Given the description of an element on the screen output the (x, y) to click on. 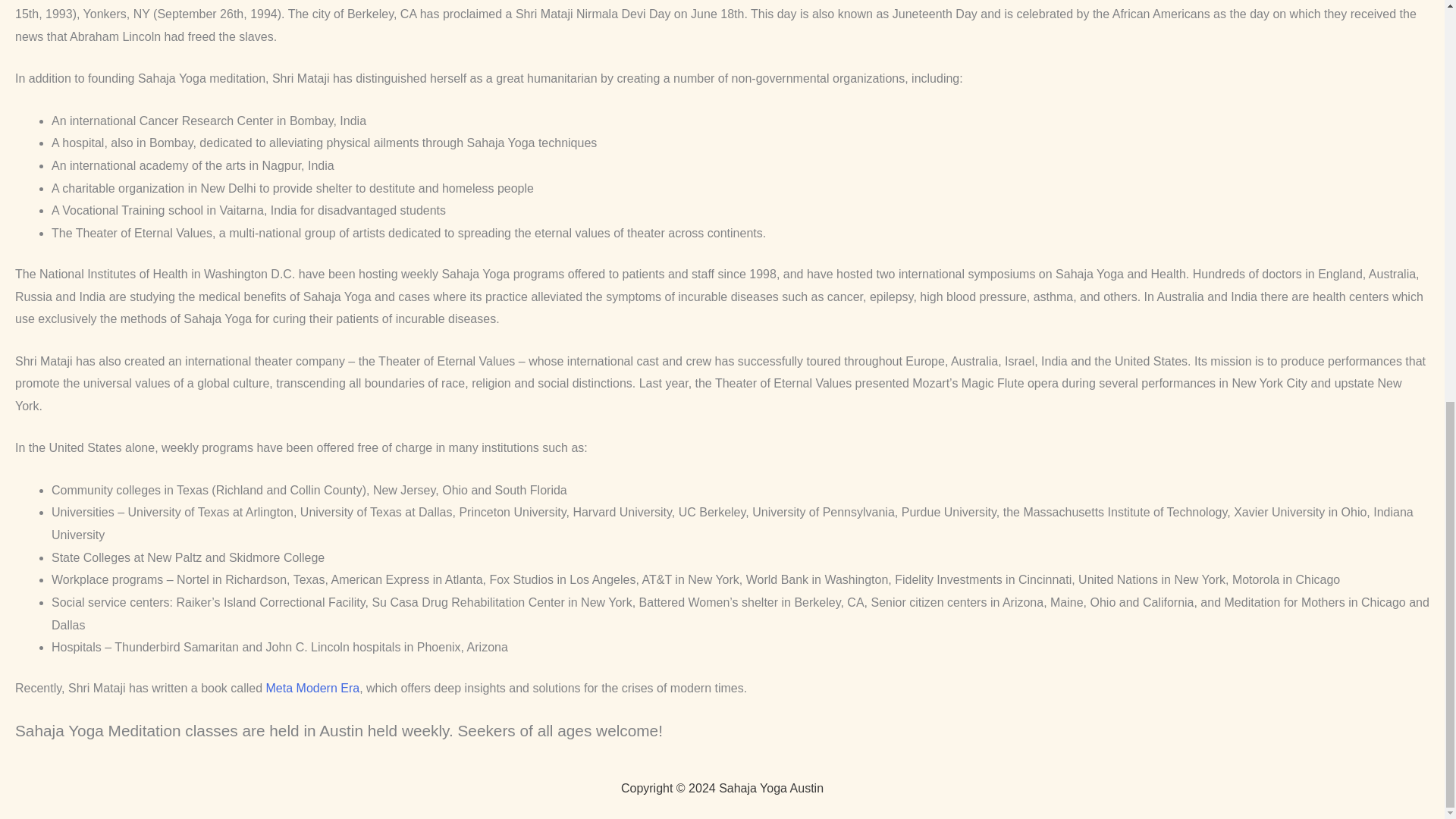
Meta Modern Era (312, 687)
